Given the description of an element on the screen output the (x, y) to click on. 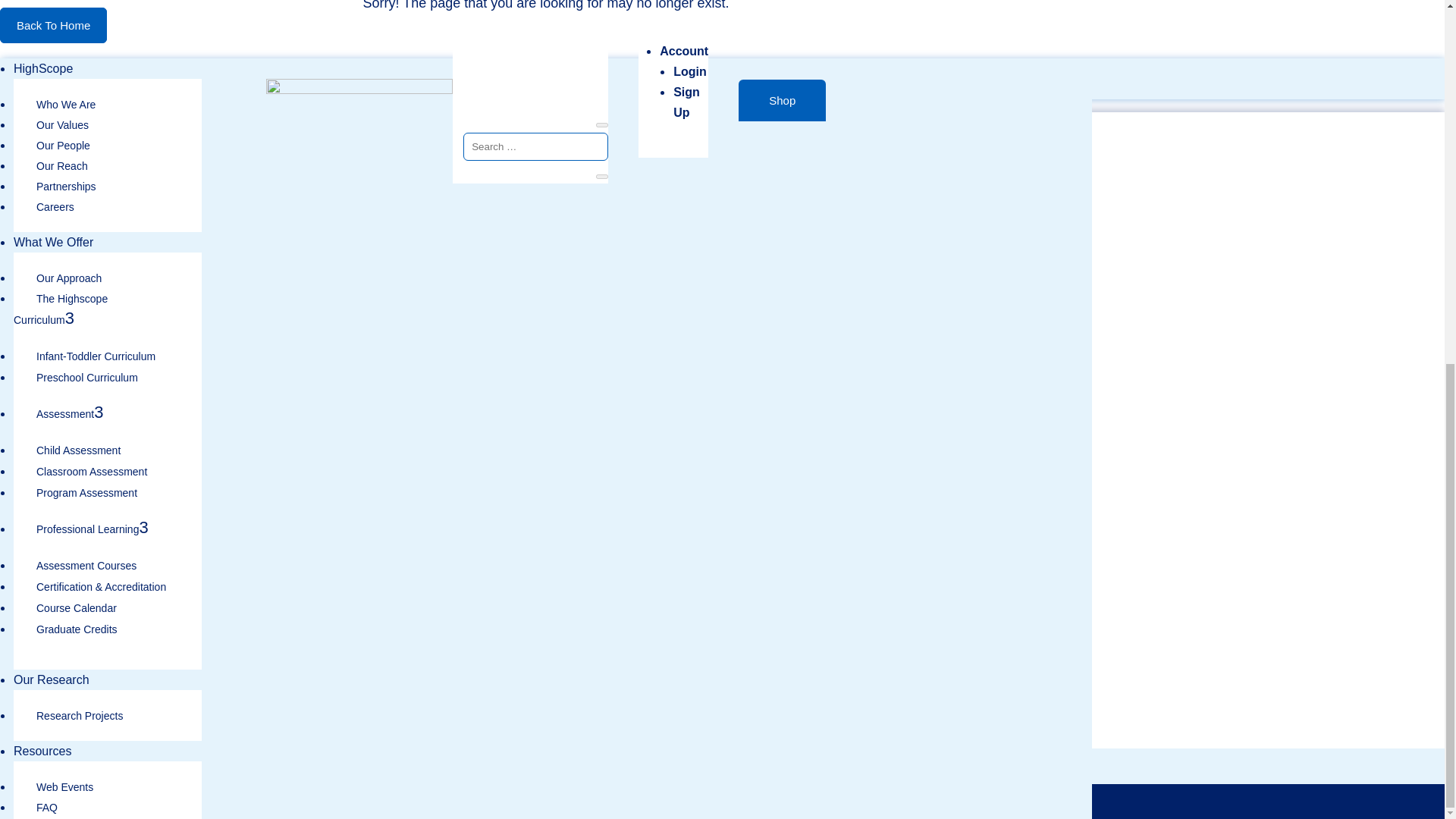
Follow on LinkedIn (1072, 639)
Follow on Youtube (1072, 619)
logo-1 (93, 207)
Follow on Facebook (1069, 540)
Follow on X (1069, 568)
Follow on Instagram (1069, 595)
